Given the description of an element on the screen output the (x, y) to click on. 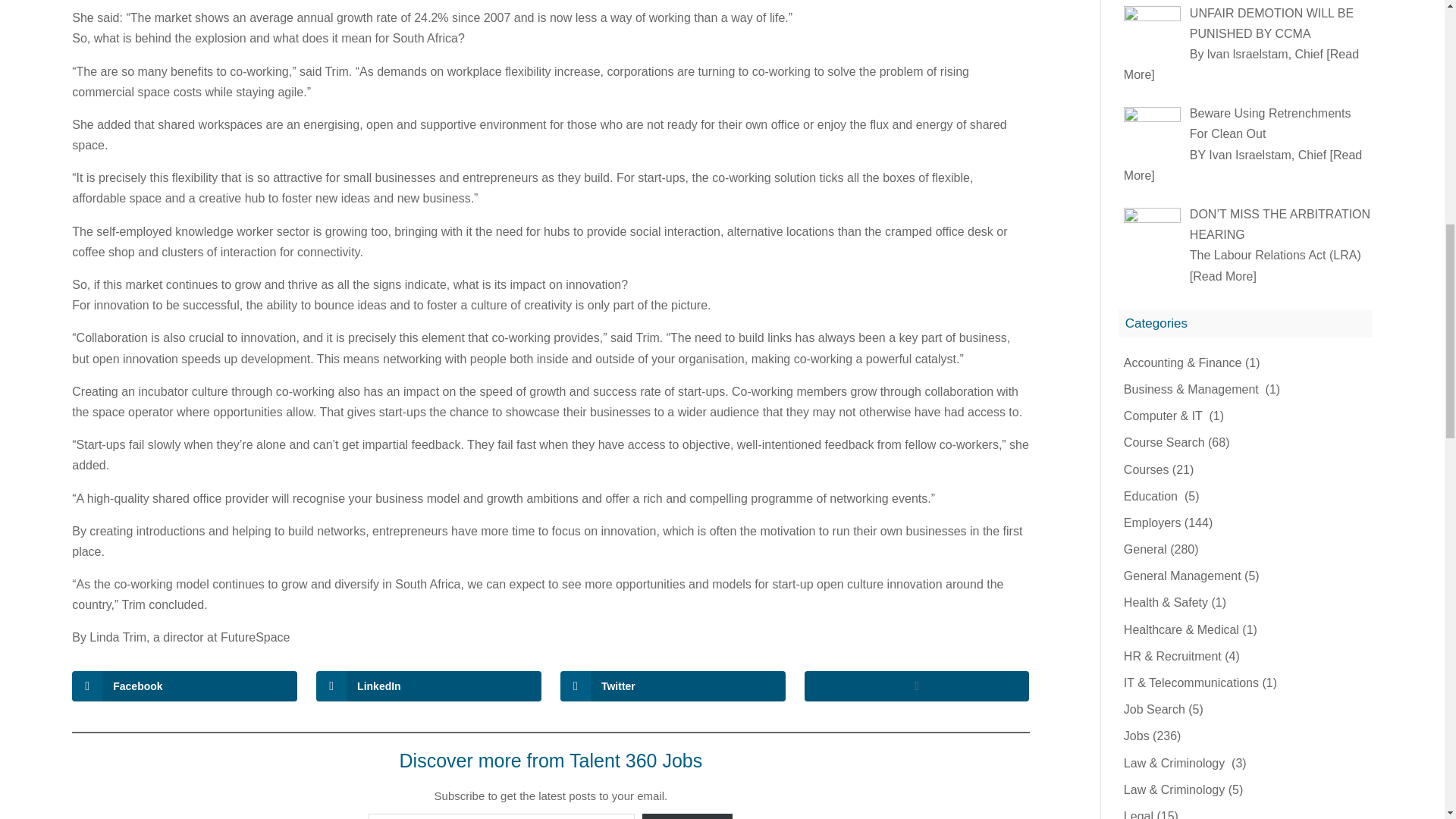
Please fill in this field. (501, 816)
